Given the description of an element on the screen output the (x, y) to click on. 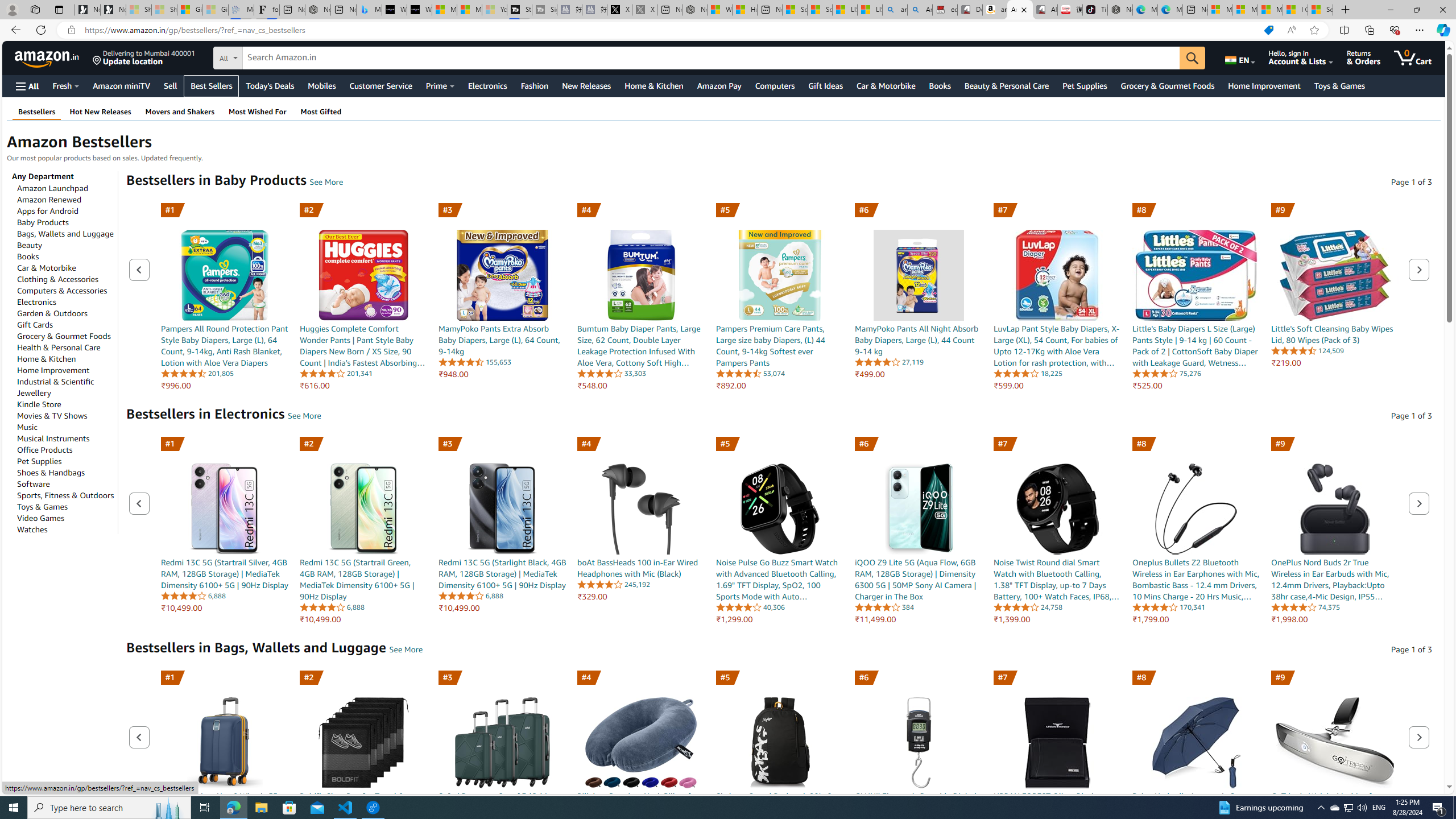
App bar (728, 29)
Office Products (44, 449)
Movers and Shakers (179, 111)
Clothing & Accessories (58, 279)
Open Menu (26, 86)
Most Gifted (320, 111)
Choose a language for shopping. (1239, 57)
Bestsellers in Electronics - See More (303, 415)
Nordace - #1 Japanese Best-Seller - Siena Smart Backpack (316, 9)
Kindle Store (39, 404)
